Given the description of an element on the screen output the (x, y) to click on. 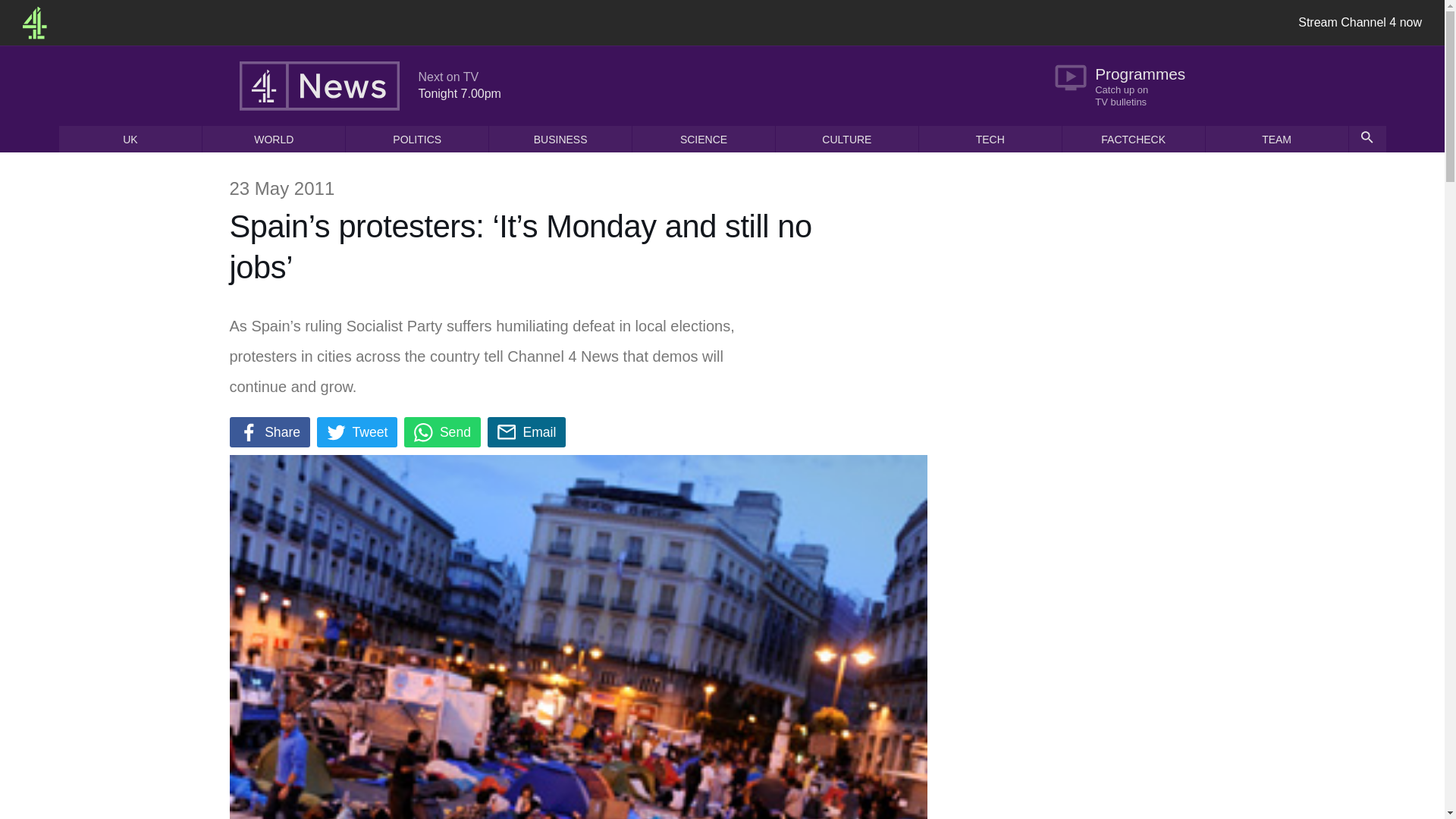
UK news (130, 139)
POLITICS (416, 139)
News team (1276, 139)
UK (130, 139)
FACTCHECK (1133, 139)
Send (442, 431)
World news (273, 139)
Email (526, 431)
Politics news (416, 139)
Stream Channel 4 now (1126, 85)
Tweet (1359, 22)
WORLD (357, 431)
TECH (273, 139)
BUSINESS (989, 139)
